Given the description of an element on the screen output the (x, y) to click on. 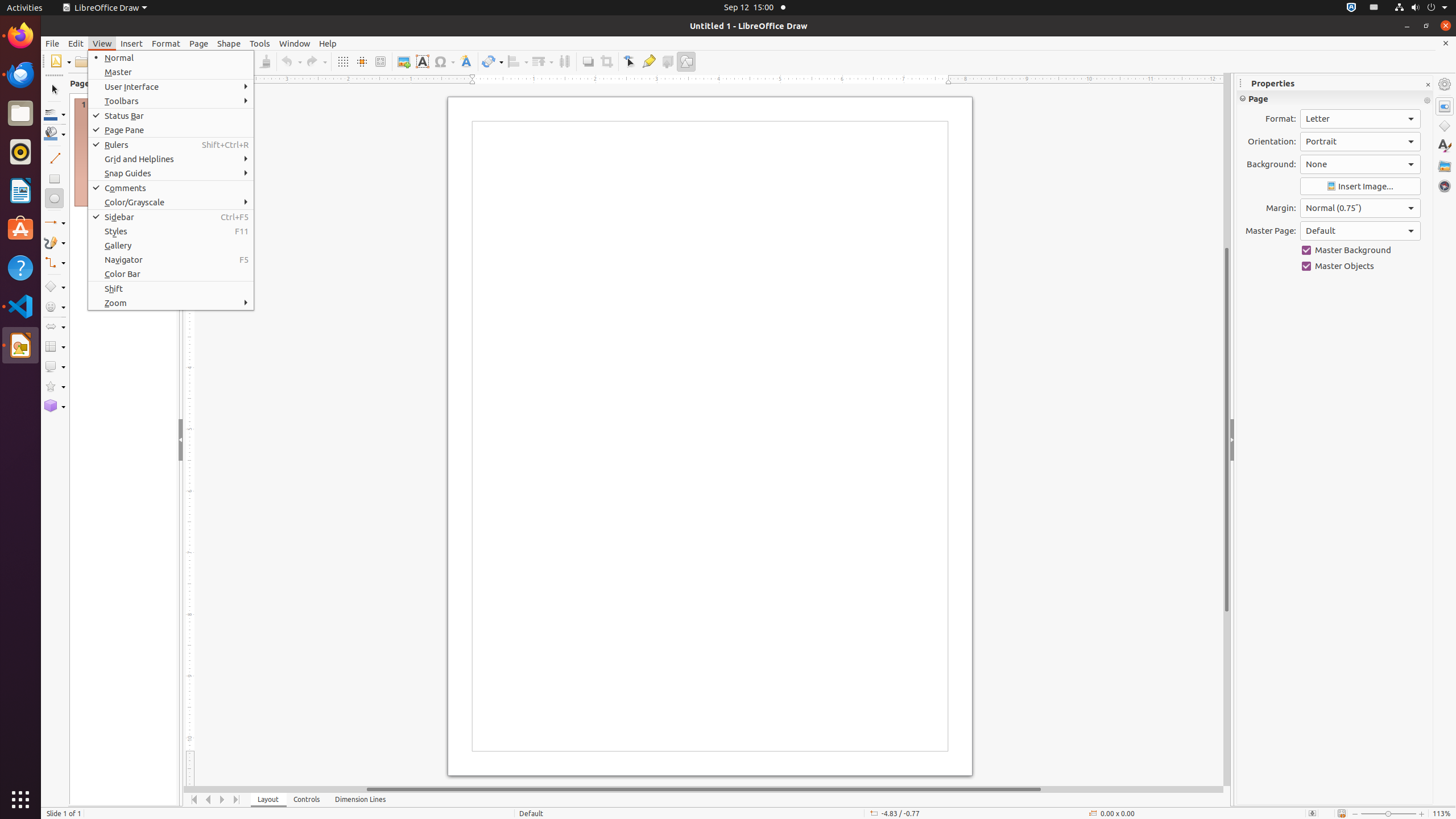
Transformations Element type: push-button (492, 61)
Toolbars Element type: menu (170, 100)
Format: Element type: combo-box (1360, 118)
Distribution Element type: push-button (564, 61)
